Given the description of an element on the screen output the (x, y) to click on. 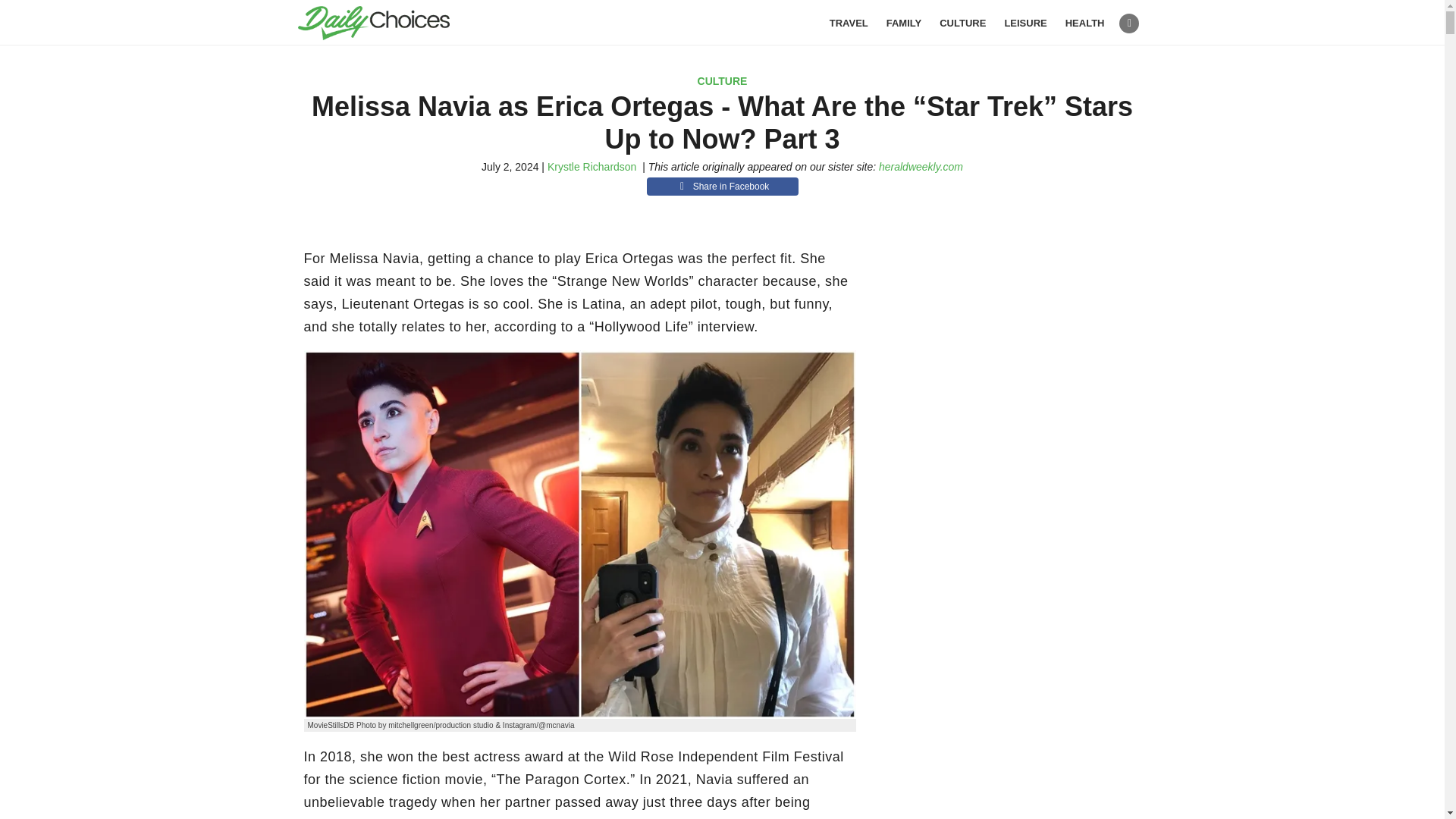
HEALTH (1085, 23)
TRAVEL (848, 23)
LEISURE (1025, 23)
Daily Choices (391, 22)
CULTURE (722, 80)
CULTURE (962, 23)
Krystle Richardson (592, 166)
Facebook (1128, 23)
Share in Facebook (721, 186)
